Given the description of an element on the screen output the (x, y) to click on. 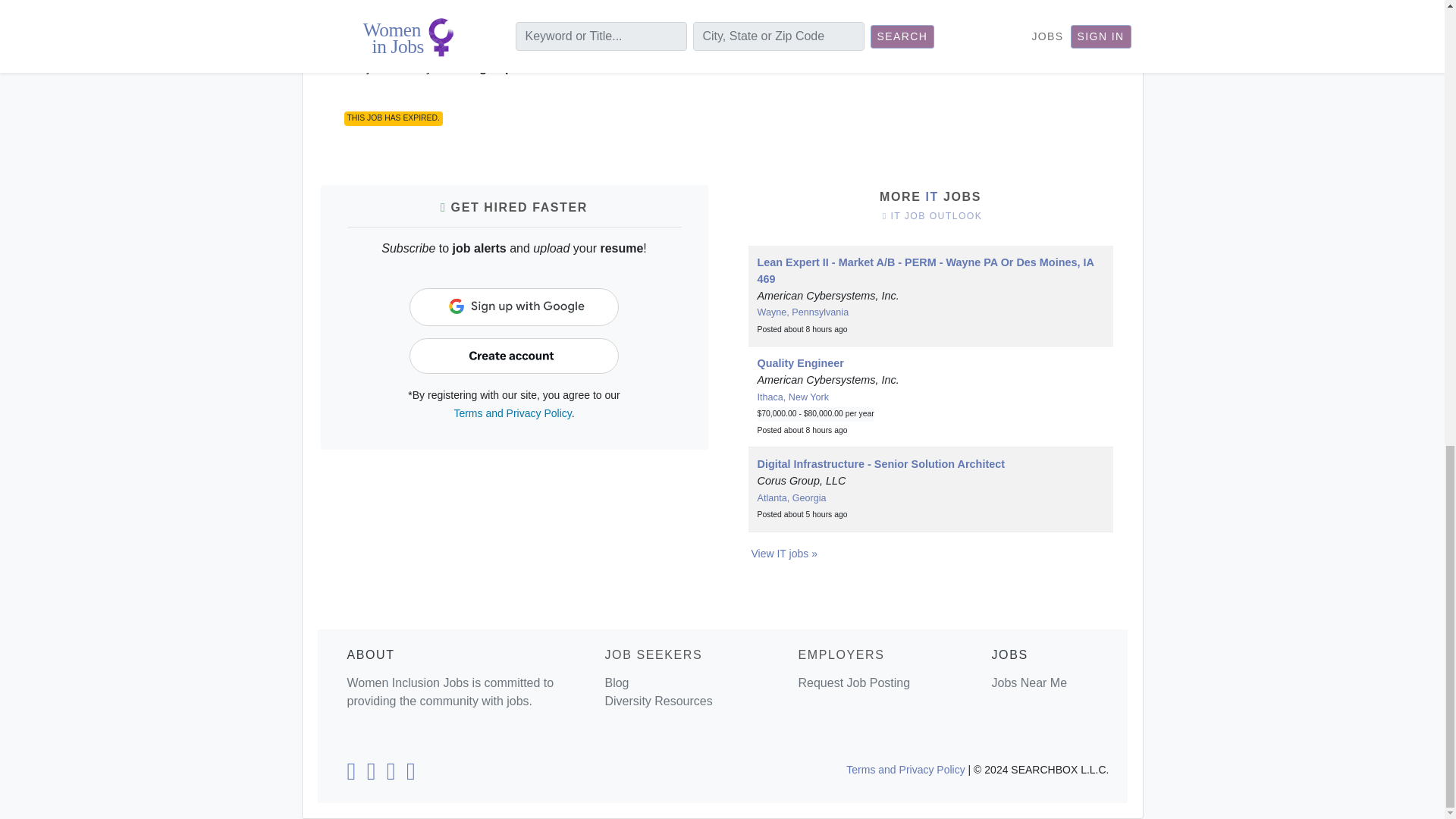
Terms and Privacy Policy (511, 413)
Ithaca, New York (792, 397)
Wayne, Pennsylvania (802, 312)
Link to LinkedIn (350, 775)
Diversity Resources (657, 700)
Quality Engineer (800, 363)
Blog (616, 682)
Atlanta, Georgia (791, 498)
Link to Facebook (371, 775)
ABOUT (370, 654)
